Given the description of an element on the screen output the (x, y) to click on. 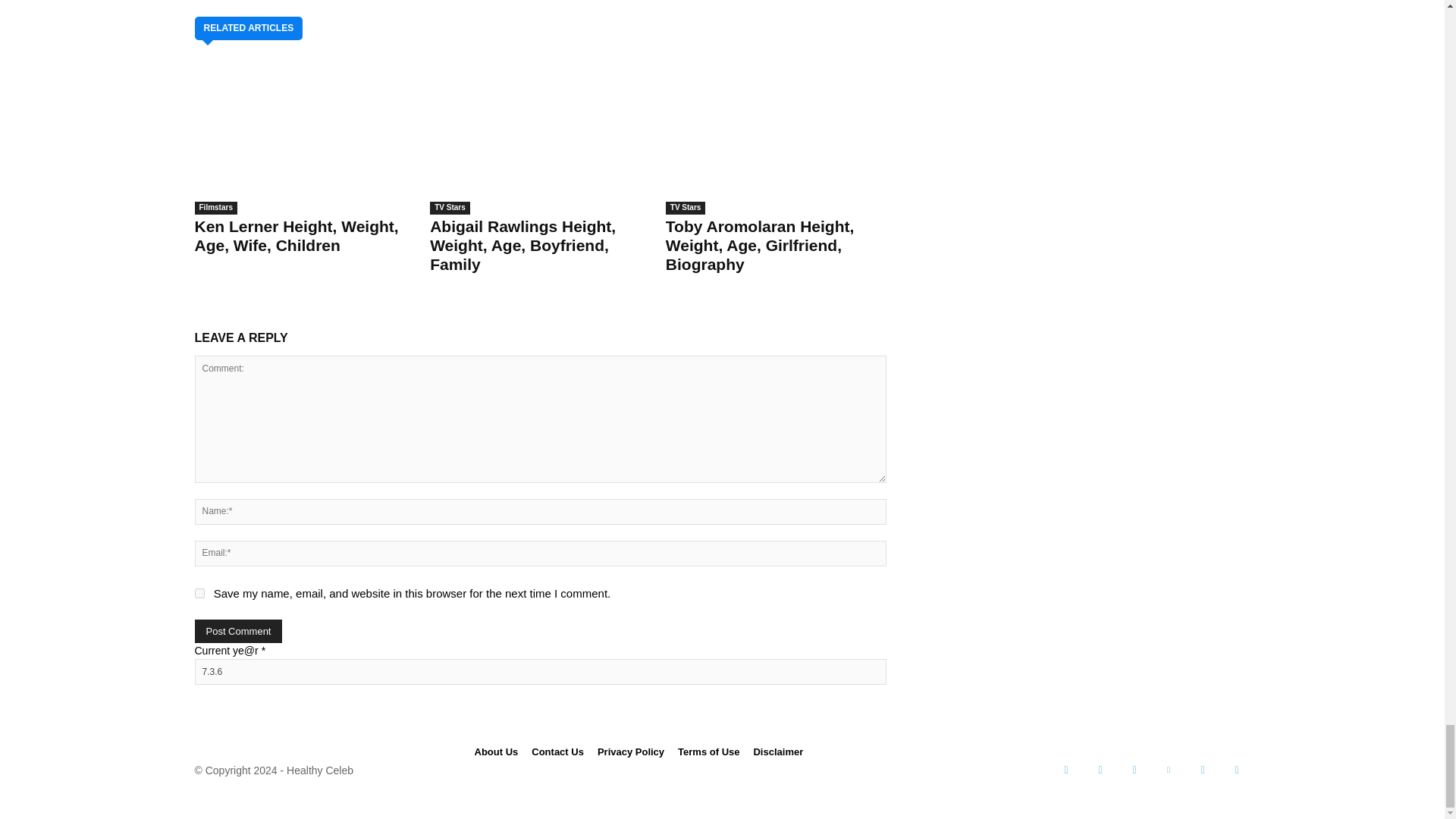
7.3.6 (539, 671)
Post Comment (237, 630)
yes (198, 593)
